Given the description of an element on the screen output the (x, y) to click on. 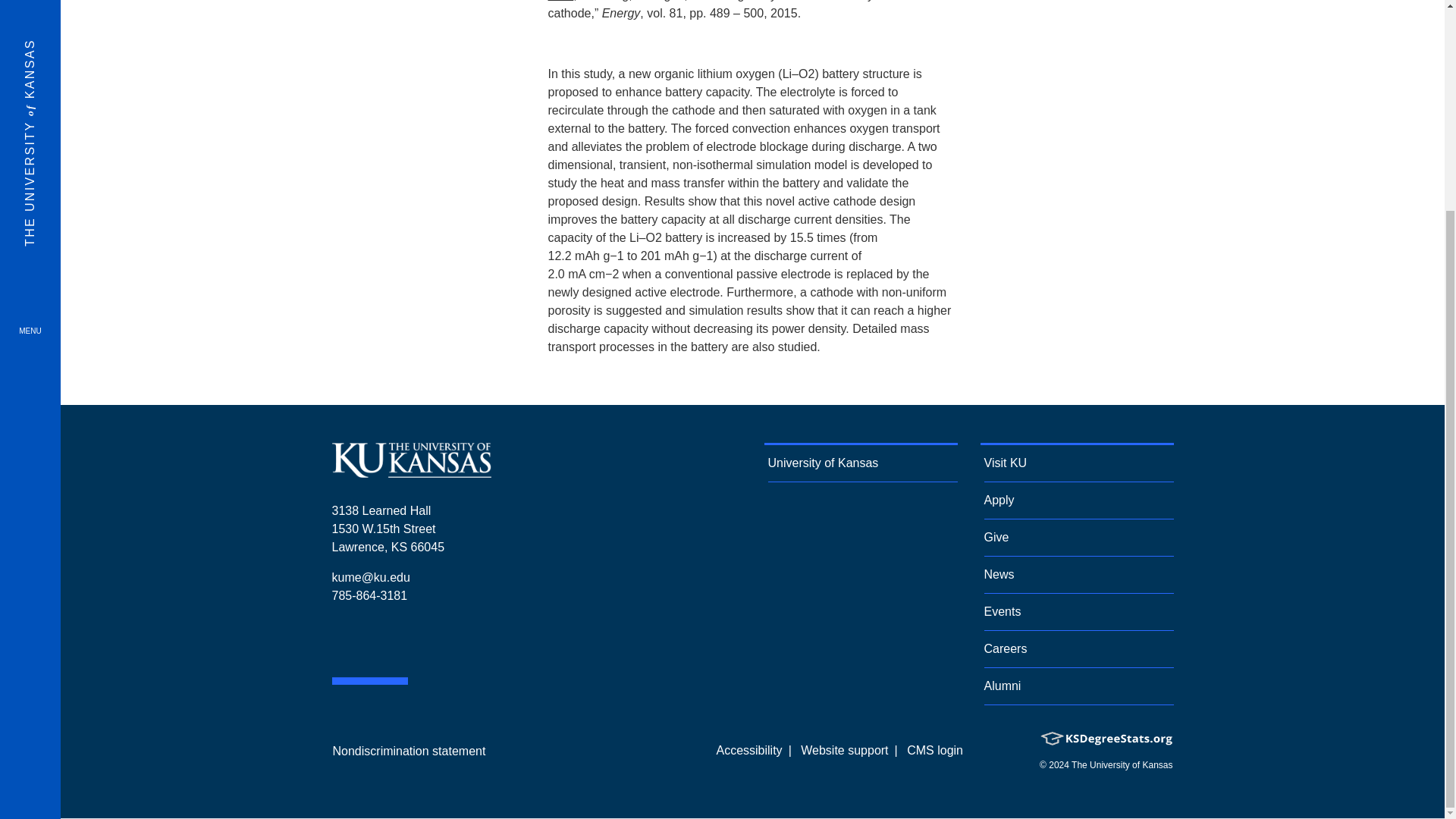
The University of Kansas (411, 471)
